Given the description of an element on the screen output the (x, y) to click on. 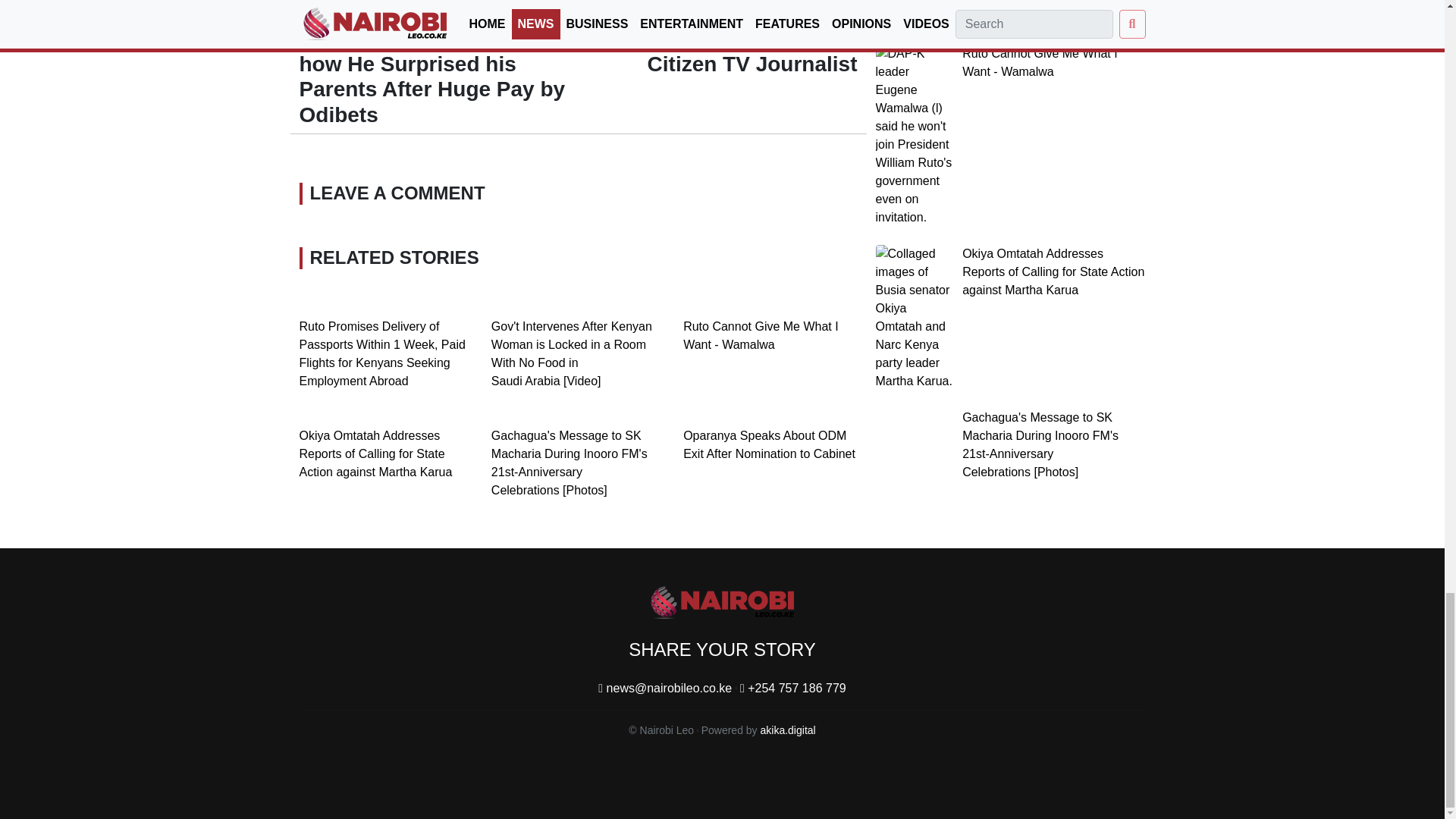
NTV Poaches Senior Citizen TV Journalist (752, 51)
Previous Post (334, 5)
NTV Poaches Senior Citizen TV Journalist (752, 51)
Ruto Cannot Give Me What I Want - Wamalwa (760, 335)
NTV Poaches Senior Citizen TV Journalist (831, 5)
Next Post (831, 5)
